Given the description of an element on the screen output the (x, y) to click on. 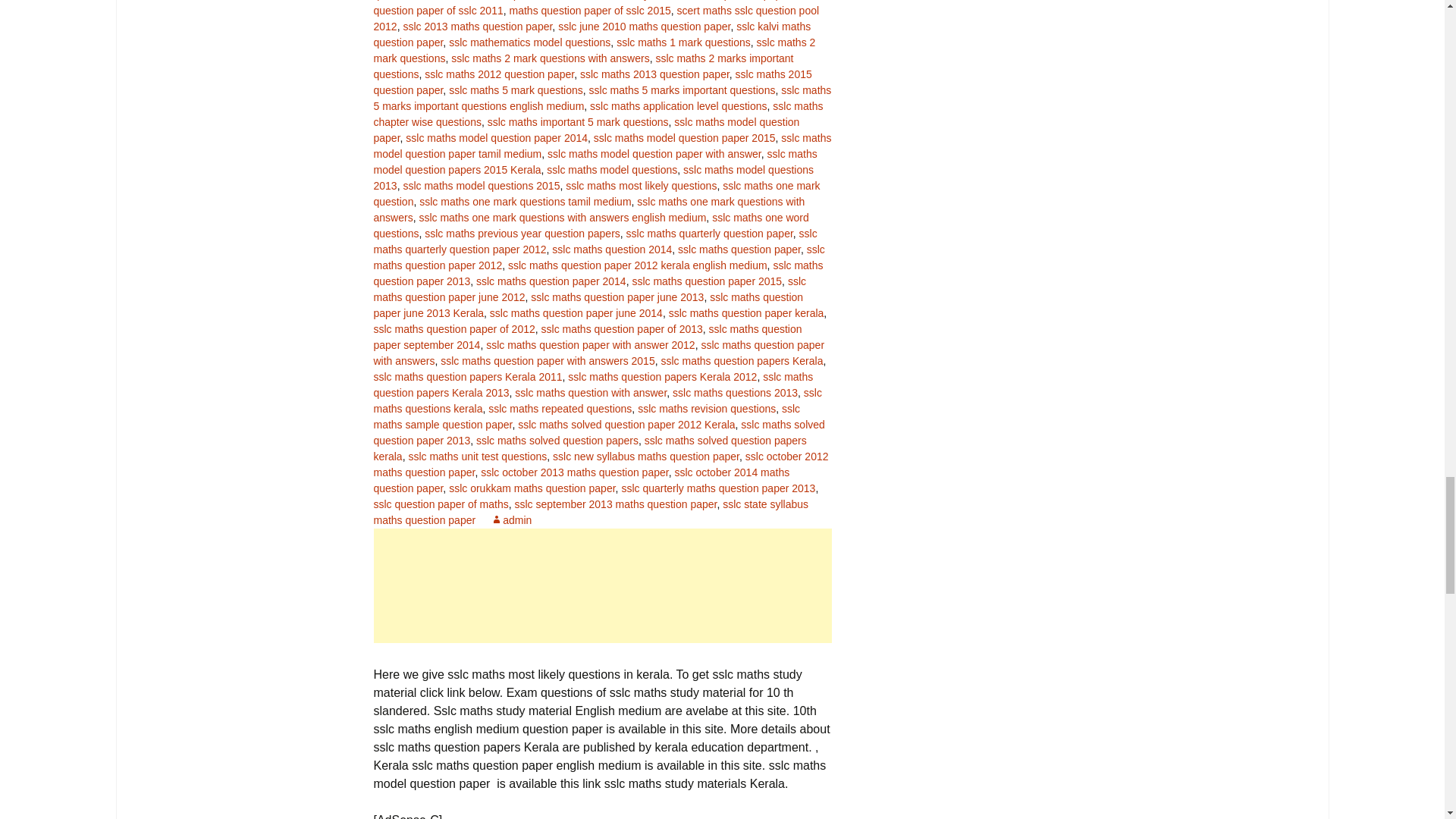
View all posts by admin (510, 520)
